Given the description of an element on the screen output the (x, y) to click on. 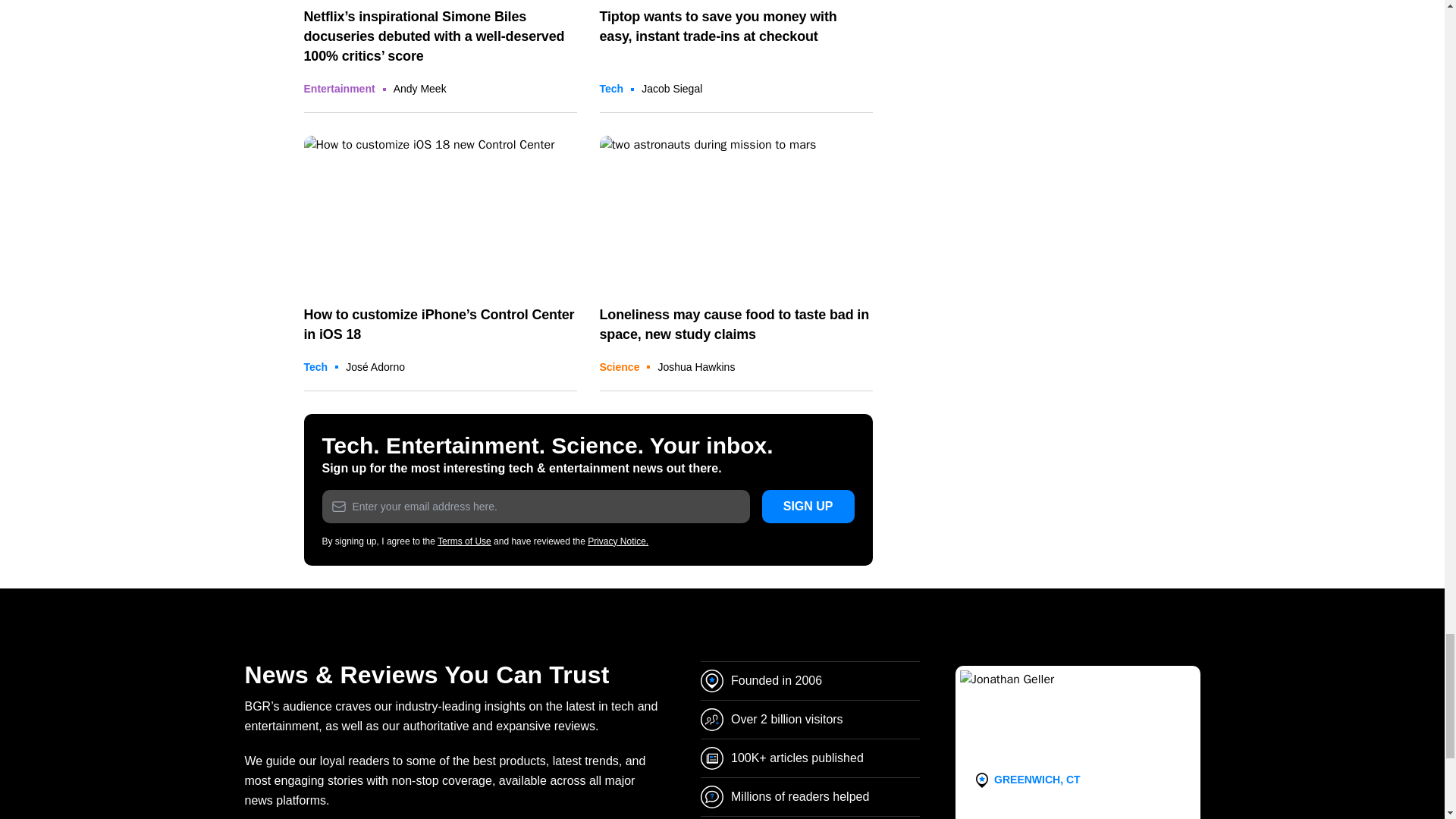
Posts by Jacob Siegal (671, 88)
why food tastes bad in space (735, 212)
Posts by Joshua Hawkins (696, 367)
Posts by Andy Meek (419, 88)
